Given the description of an element on the screen output the (x, y) to click on. 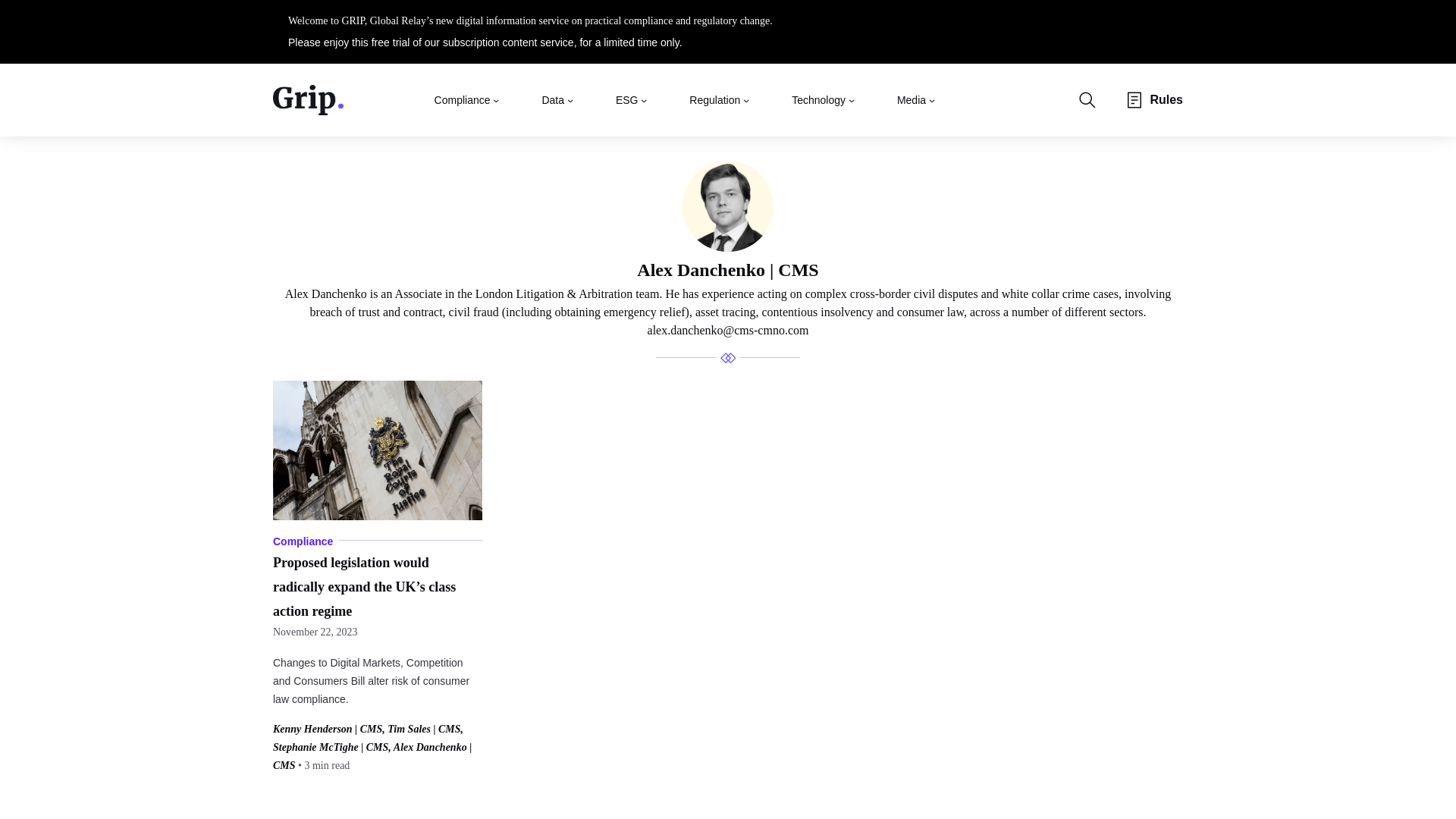
ESG (627, 99)
Compliance (461, 99)
Data (552, 99)
Compliance (303, 541)
Regulation (713, 99)
Rules (1166, 99)
Technology (818, 99)
Media (911, 99)
